Given the description of an element on the screen output the (x, y) to click on. 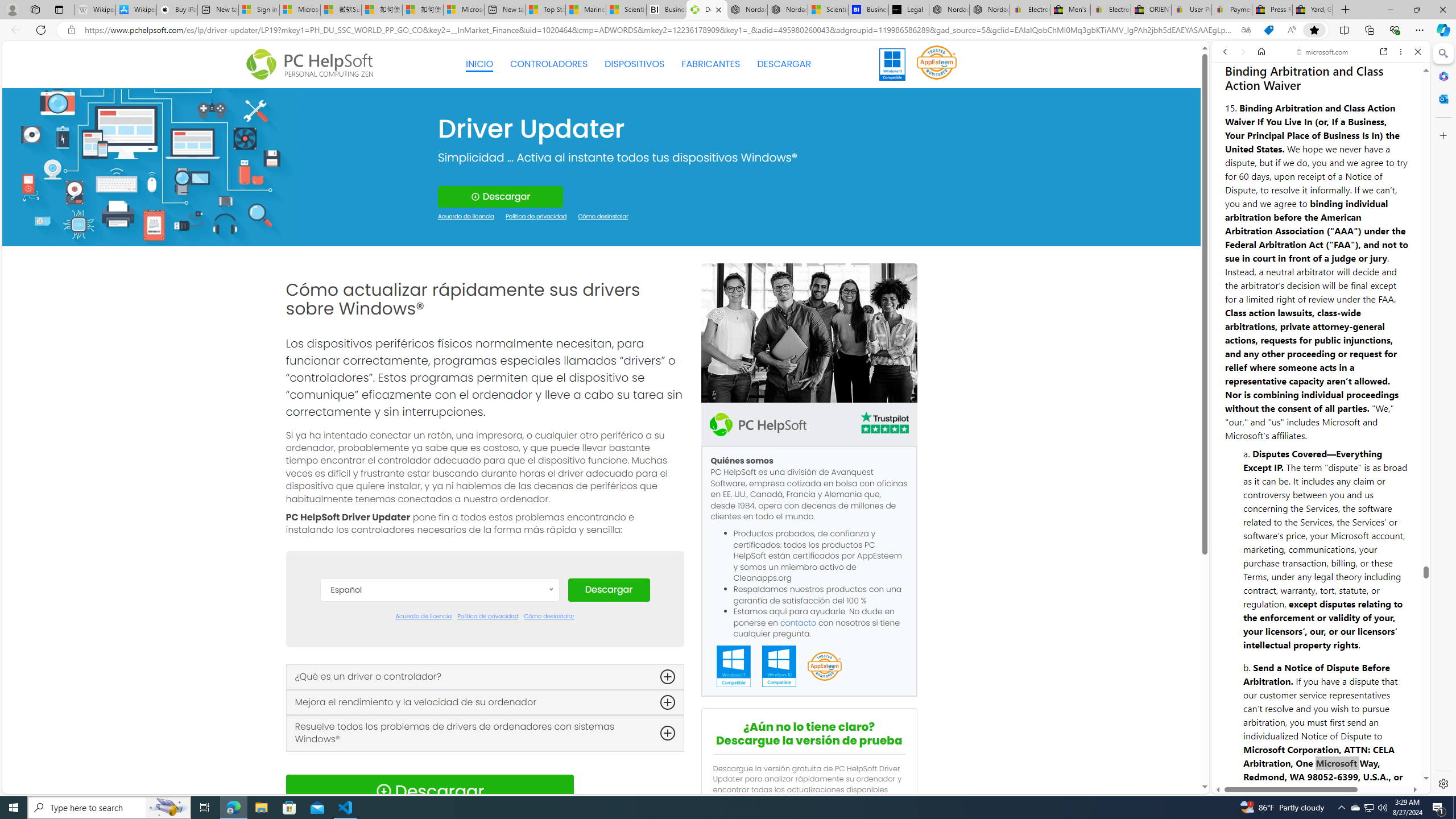
Windows 11 (892, 64)
Deutsch (439, 678)
FABRICANTES (711, 64)
